Given the description of an element on the screen output the (x, y) to click on. 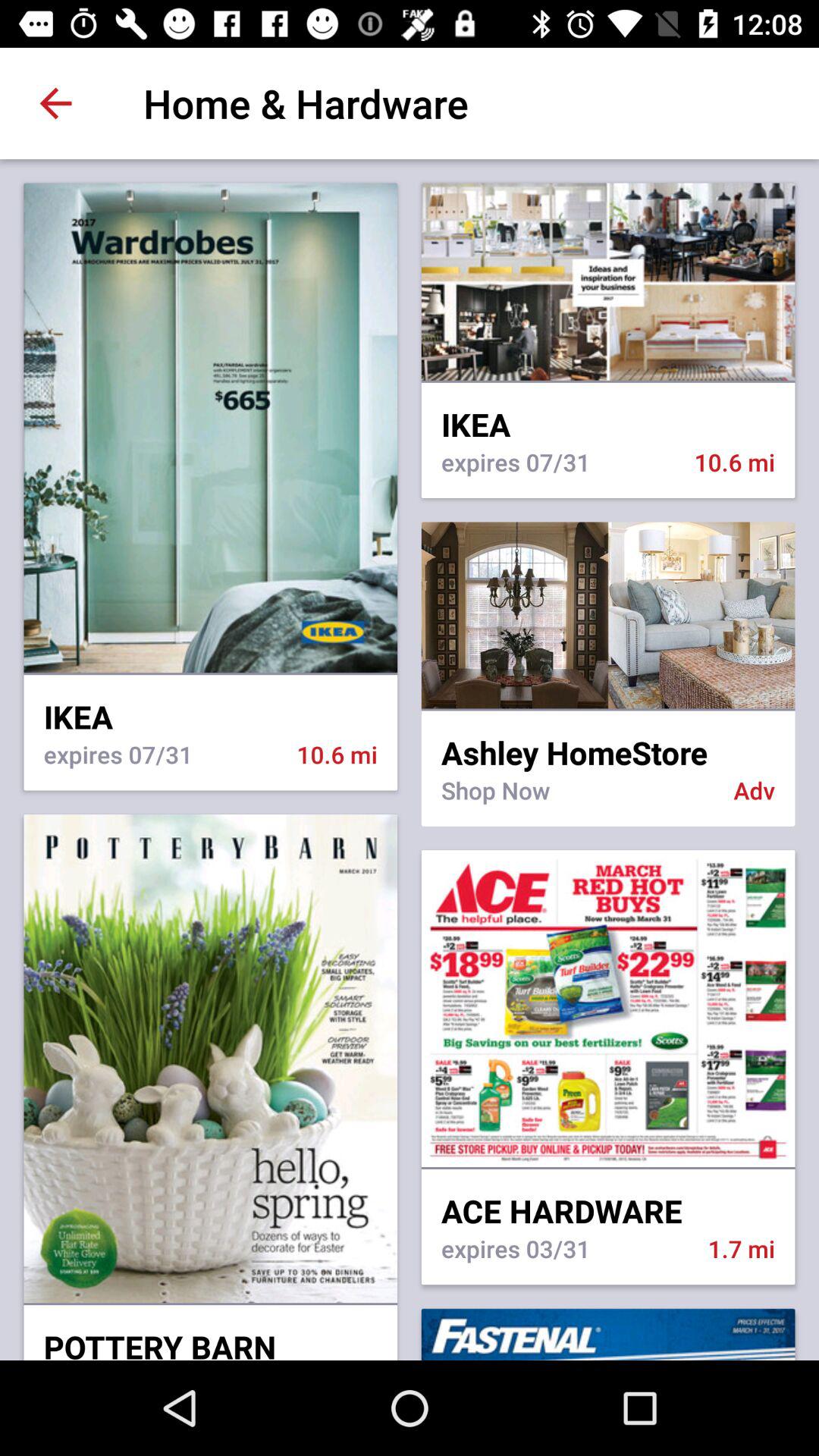
open icon to the left of the adv (577, 800)
